Given the description of an element on the screen output the (x, y) to click on. 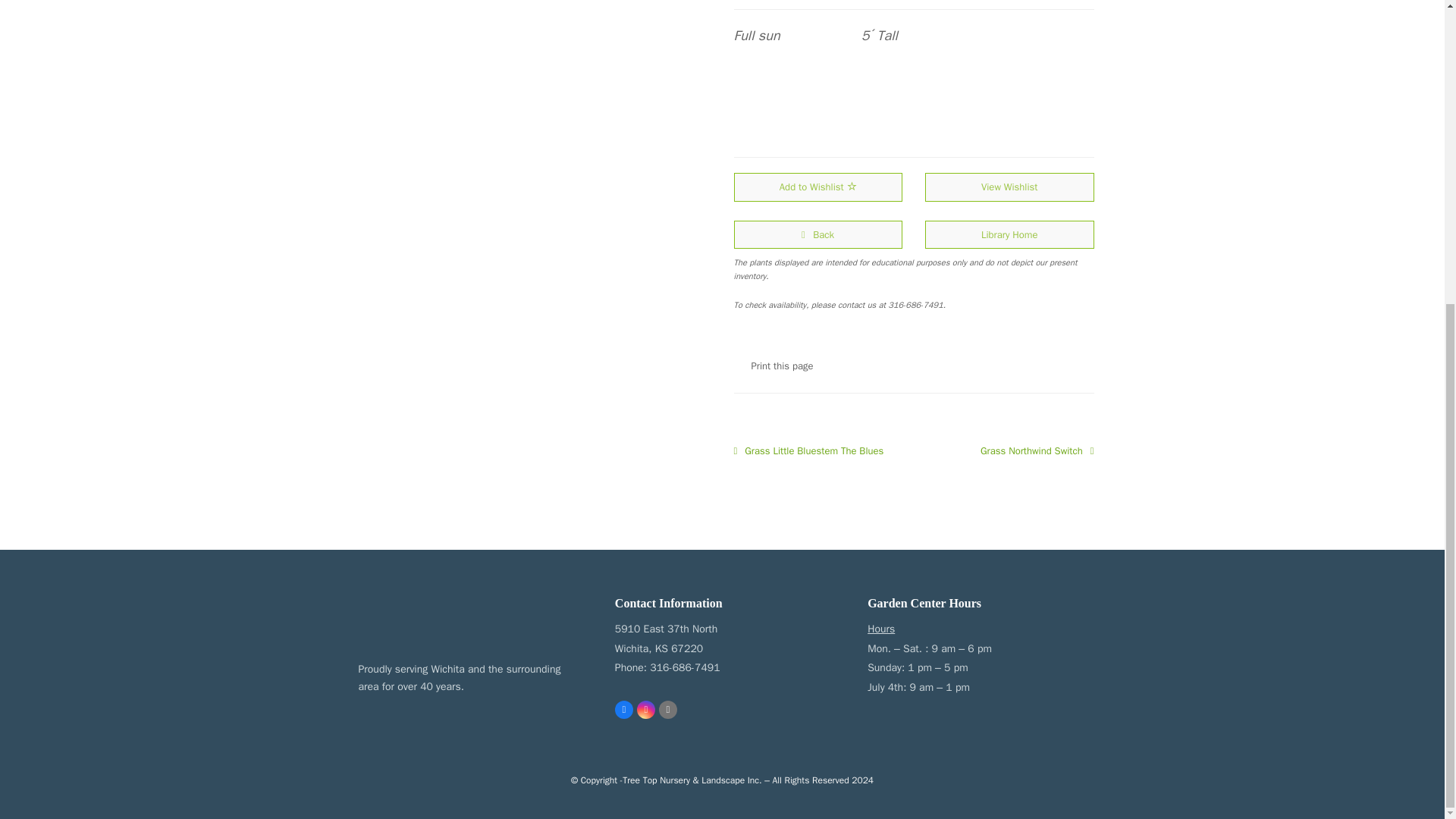
Grass Northwind Switch (1036, 450)
Back (817, 234)
Add to Wishlist (817, 186)
Instagram (646, 710)
Print this page (781, 365)
Facebook (623, 710)
Print this page (739, 366)
Library Home (1009, 234)
Grass Little Bluestem The Blues (808, 450)
Email (668, 710)
View Wishlist (1009, 186)
ttn-logo-white-hr (426, 617)
